Given the description of an element on the screen output the (x, y) to click on. 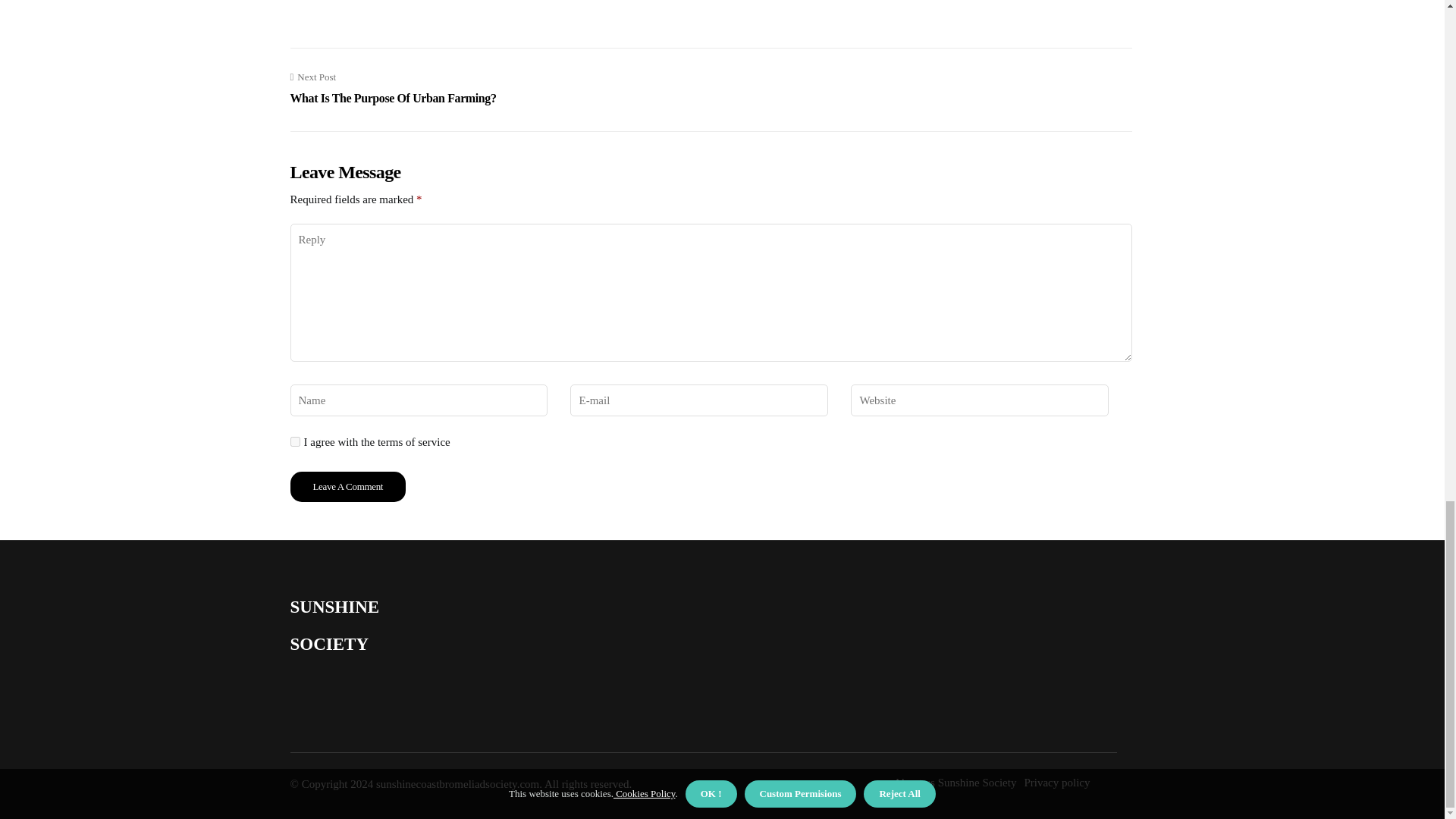
yes (294, 441)
Leave a Comment (392, 88)
Leave a Comment (347, 486)
